Given the description of an element on the screen output the (x, y) to click on. 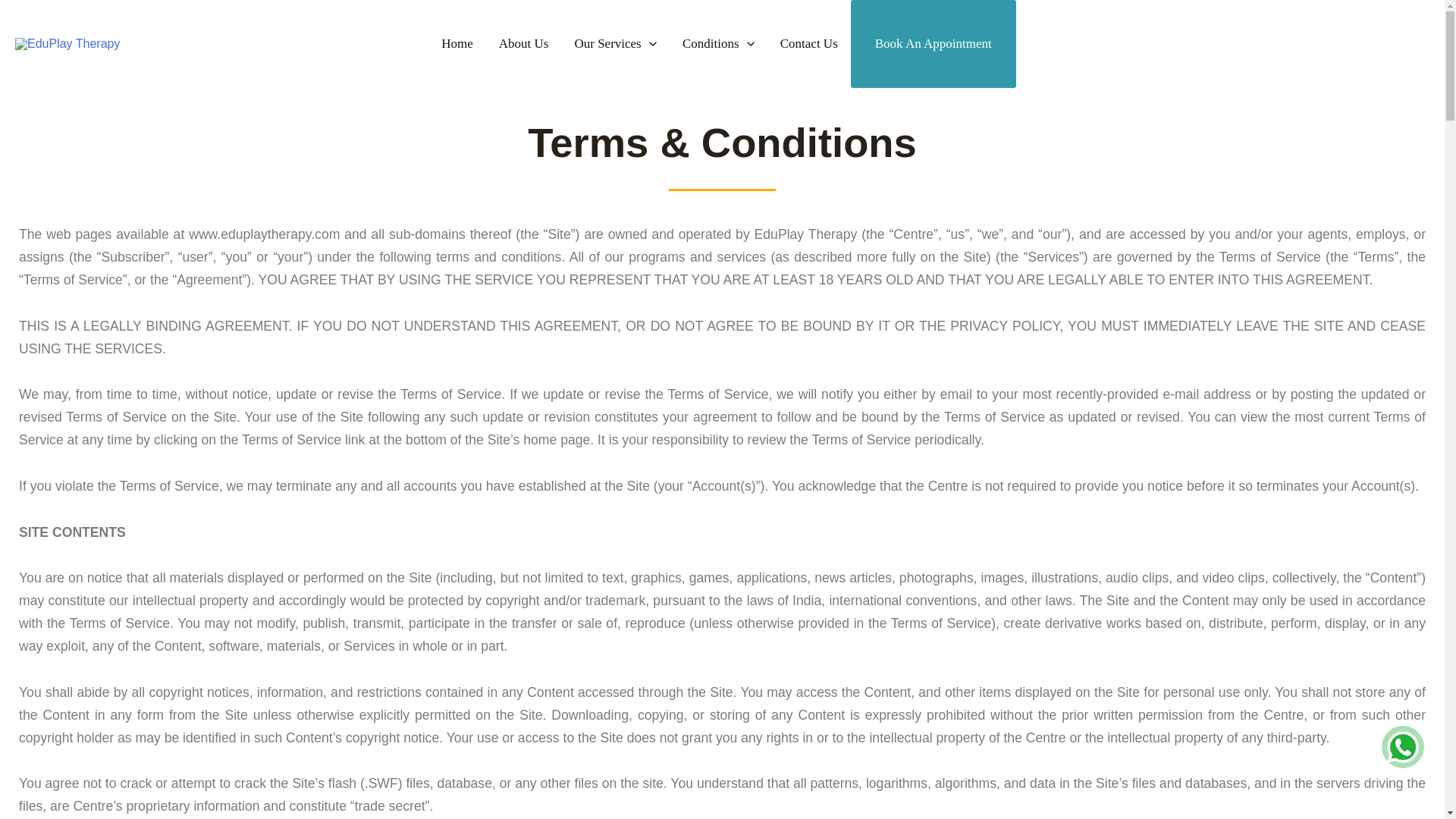
Our Services (614, 43)
Contact Us (808, 43)
Conditions (718, 43)
Book An Appointment (932, 43)
